Given the description of an element on the screen output the (x, y) to click on. 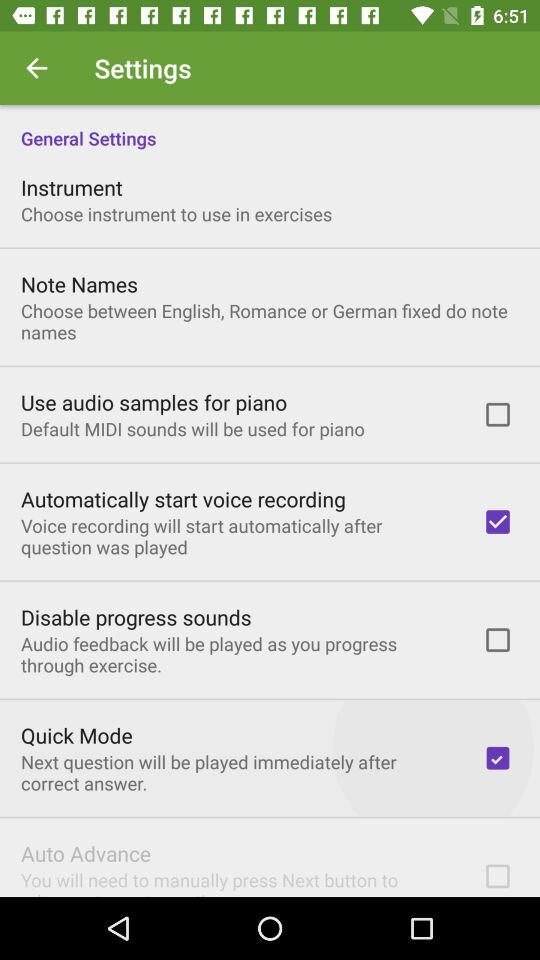
swipe to the general settings (270, 127)
